Given the description of an element on the screen output the (x, y) to click on. 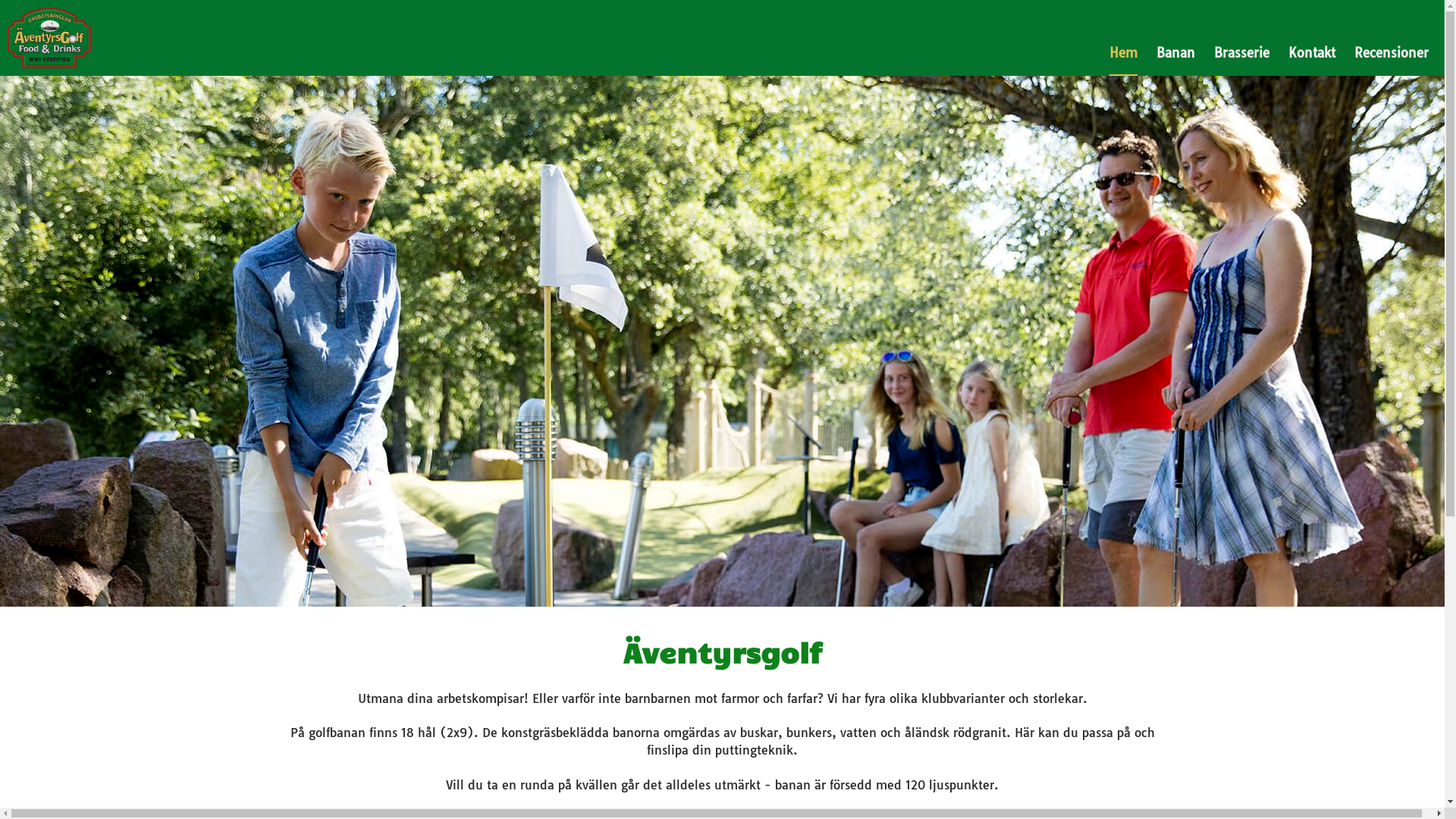
Recensioner Element type: text (1391, 53)
Kontakt Element type: text (1311, 53)
Brasserie Element type: text (1241, 53)
Hem Element type: text (1123, 53)
Banan Element type: text (1175, 53)
